Given the description of an element on the screen output the (x, y) to click on. 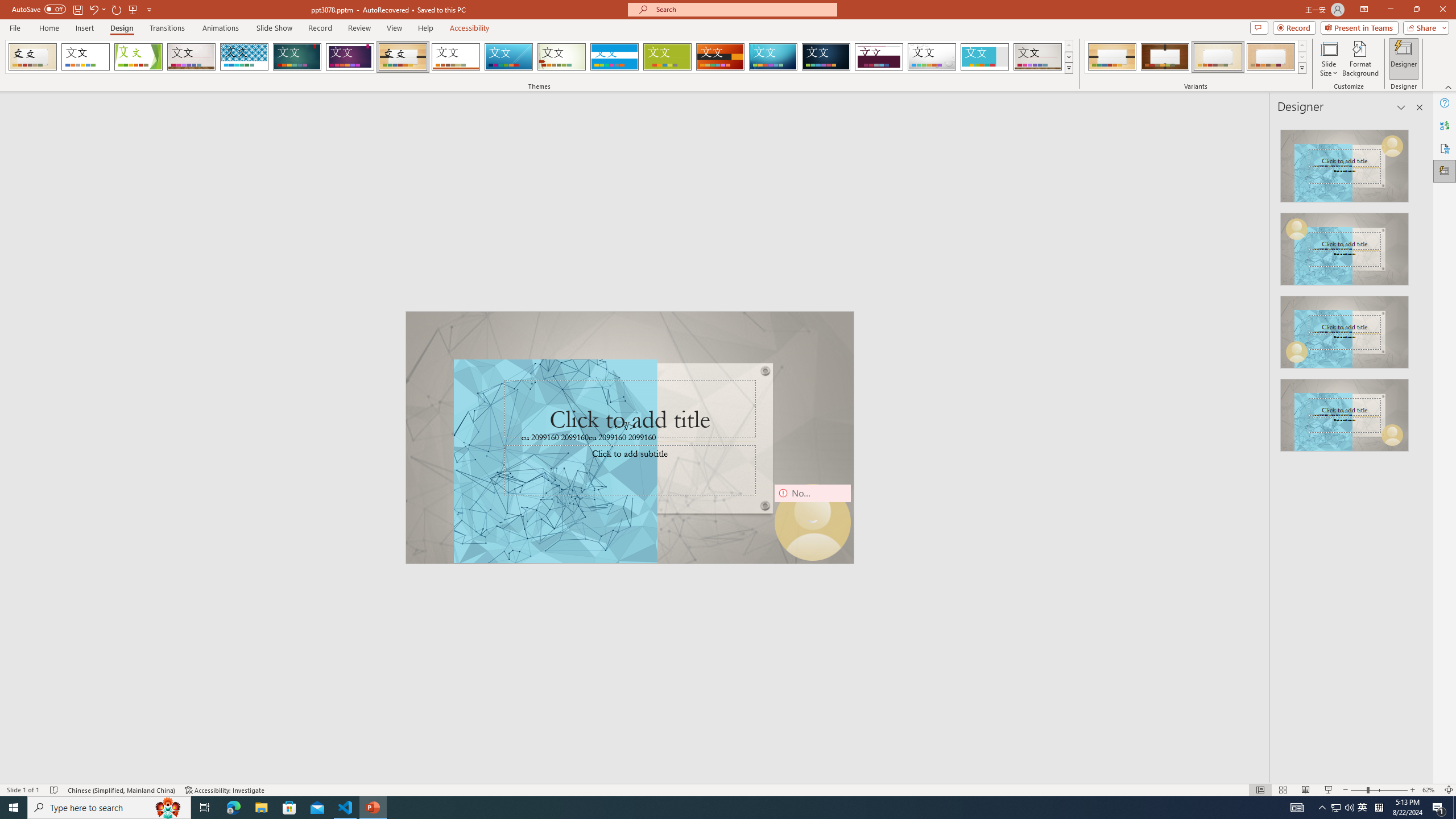
Problems (Ctrl+Shift+M) (323, 533)
Toggle Secondary Side Bar (Ctrl+Alt+B) (1411, 150)
icon (1371, 112)
Explorer actions (222, 183)
Extensions (Ctrl+Shift+X) (76, 397)
Toggle Panel (Ctrl+J) (1384, 150)
